Given the description of an element on the screen output the (x, y) to click on. 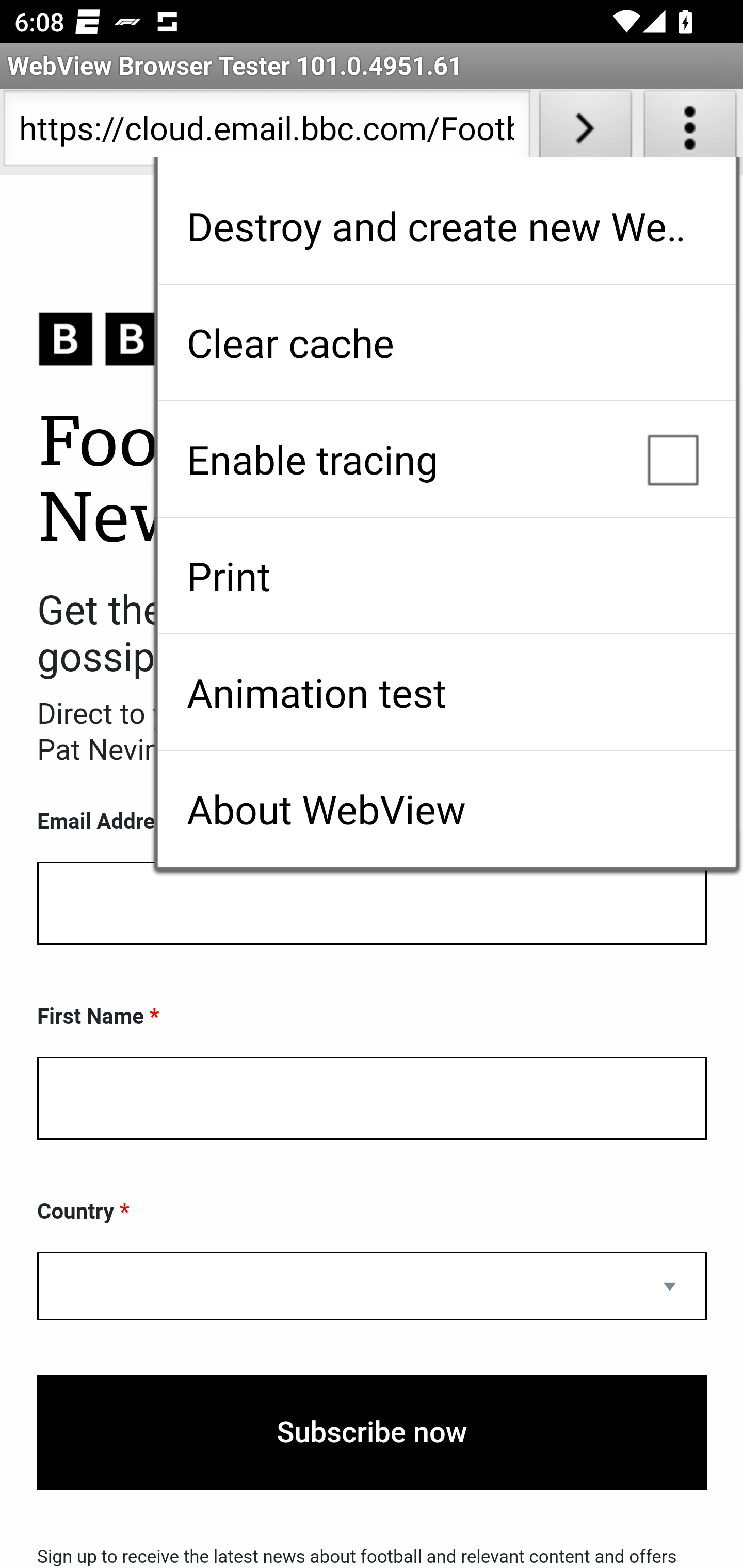
Destroy and create new WebView (446, 225)
Clear cache (446, 342)
Enable tracing (446, 459)
Print (446, 575)
Animation test (446, 692)
About WebView (446, 809)
